Given the description of an element on the screen output the (x, y) to click on. 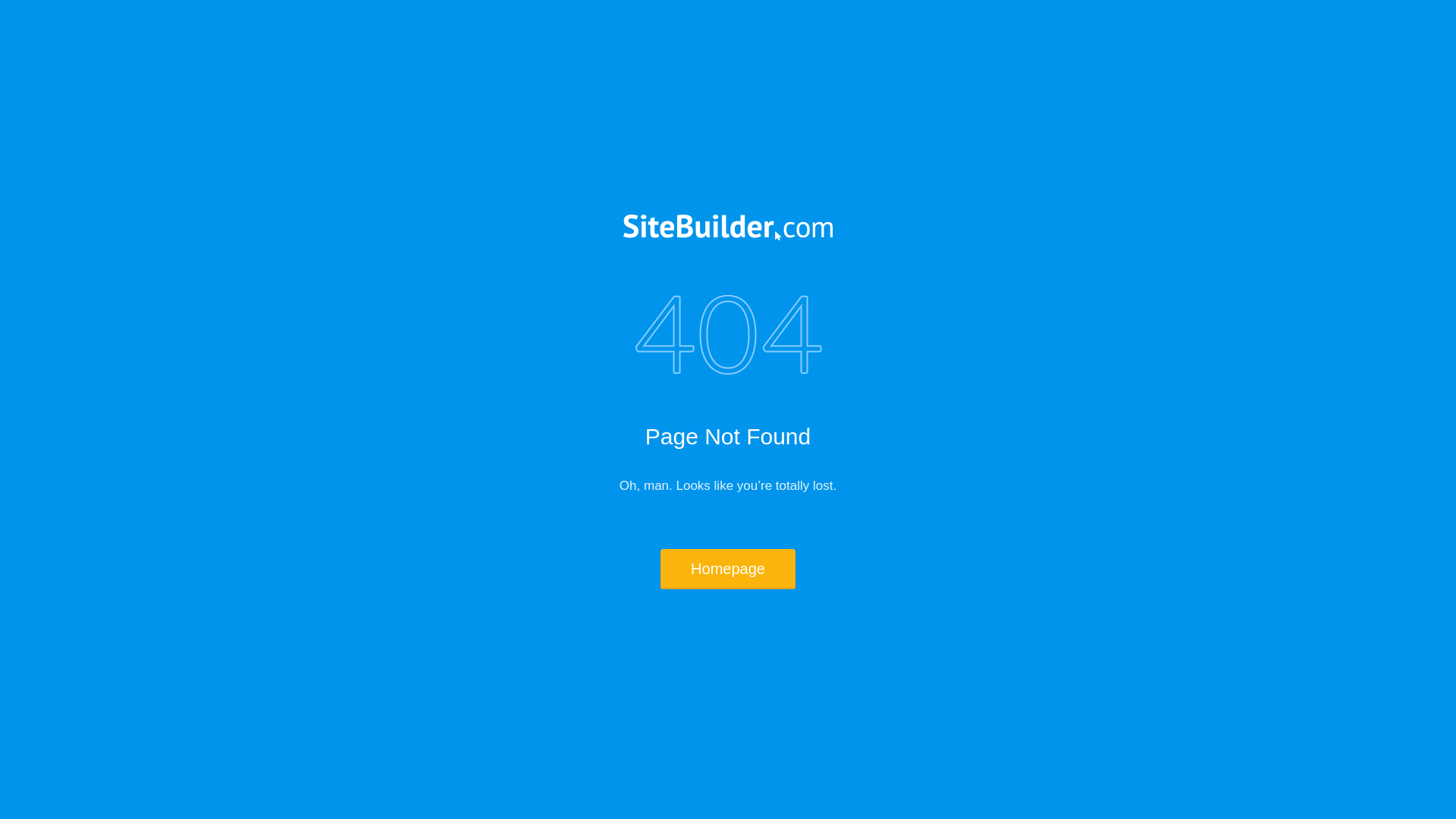
Homepage Element type: text (727, 569)
